Given the description of an element on the screen output the (x, y) to click on. 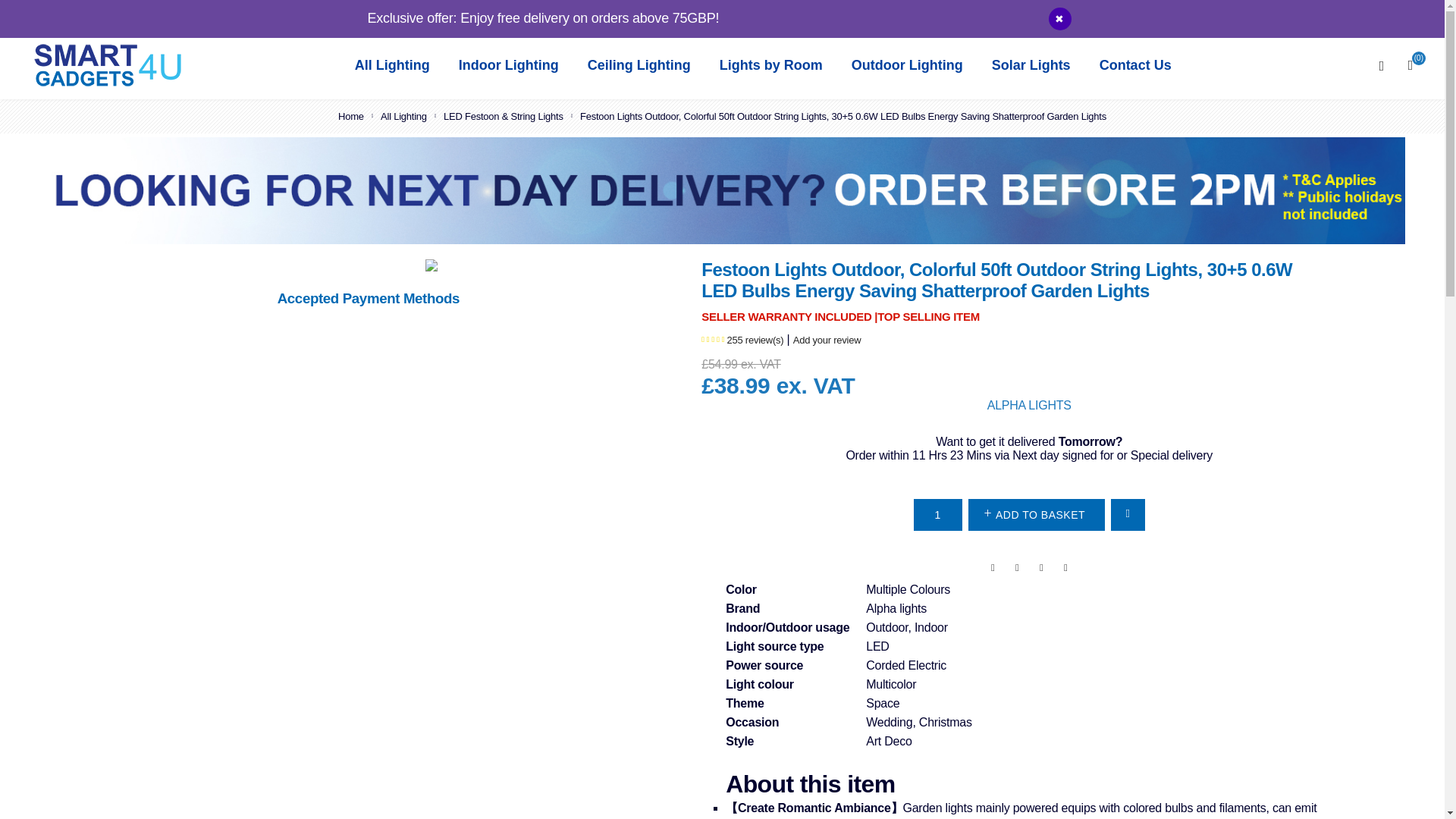
Outdoor Lighting (907, 64)
Ceiling Lighting (638, 64)
1 (938, 514)
Indoor Lighting (508, 64)
All Lighting (392, 64)
REGISTER (1335, 15)
Contact Us (1135, 64)
Lights by Room (770, 64)
Solar Lights (1031, 64)
LOG IN (1400, 15)
